Given the description of an element on the screen output the (x, y) to click on. 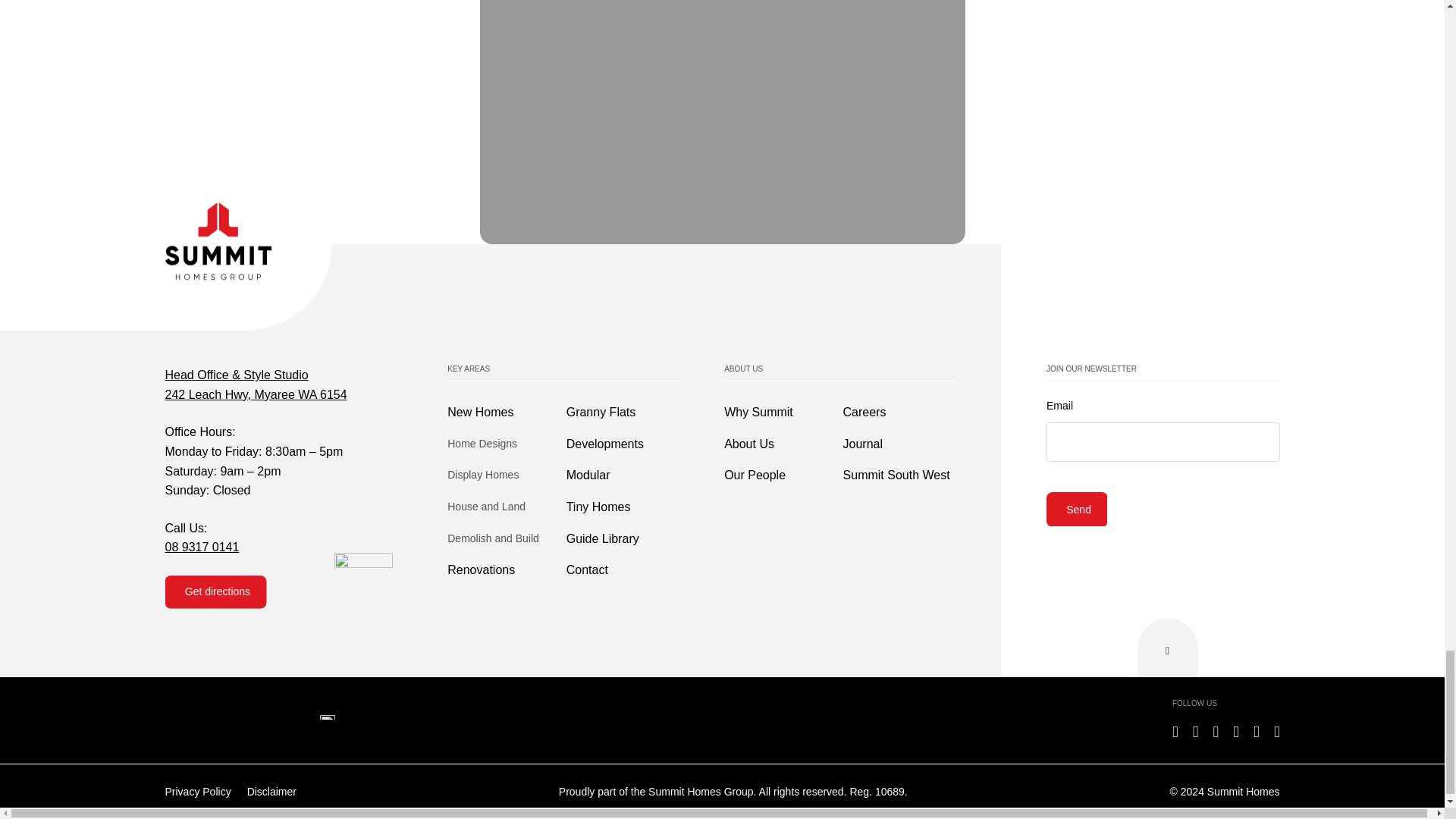
youtube (1236, 731)
tiktok (1276, 731)
facebook (1174, 731)
linkedin (1195, 731)
instagram (1216, 731)
pinterest (1256, 731)
